Given the description of an element on the screen output the (x, y) to click on. 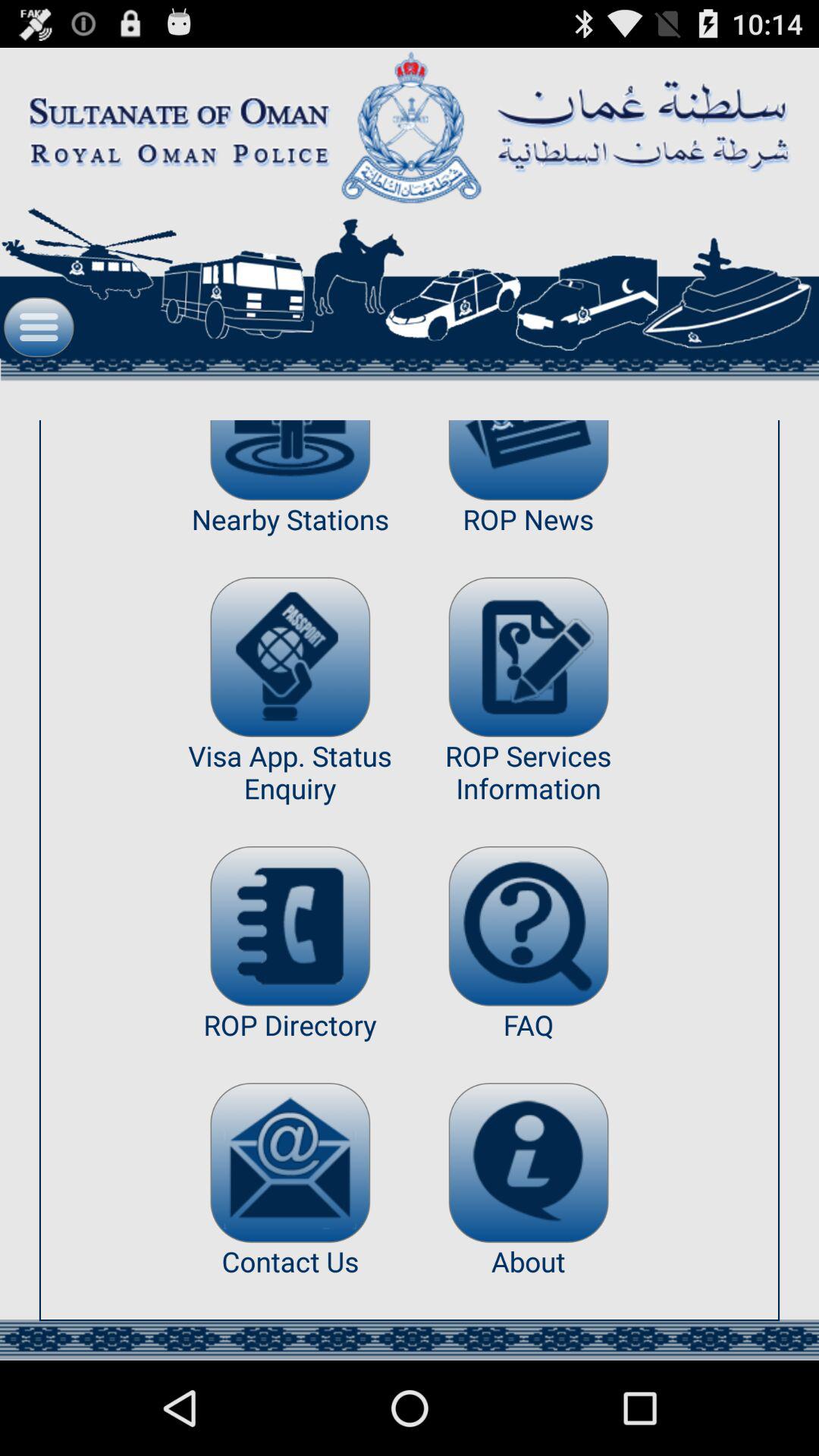
'rop services information button (528, 657)
